Given the description of an element on the screen output the (x, y) to click on. 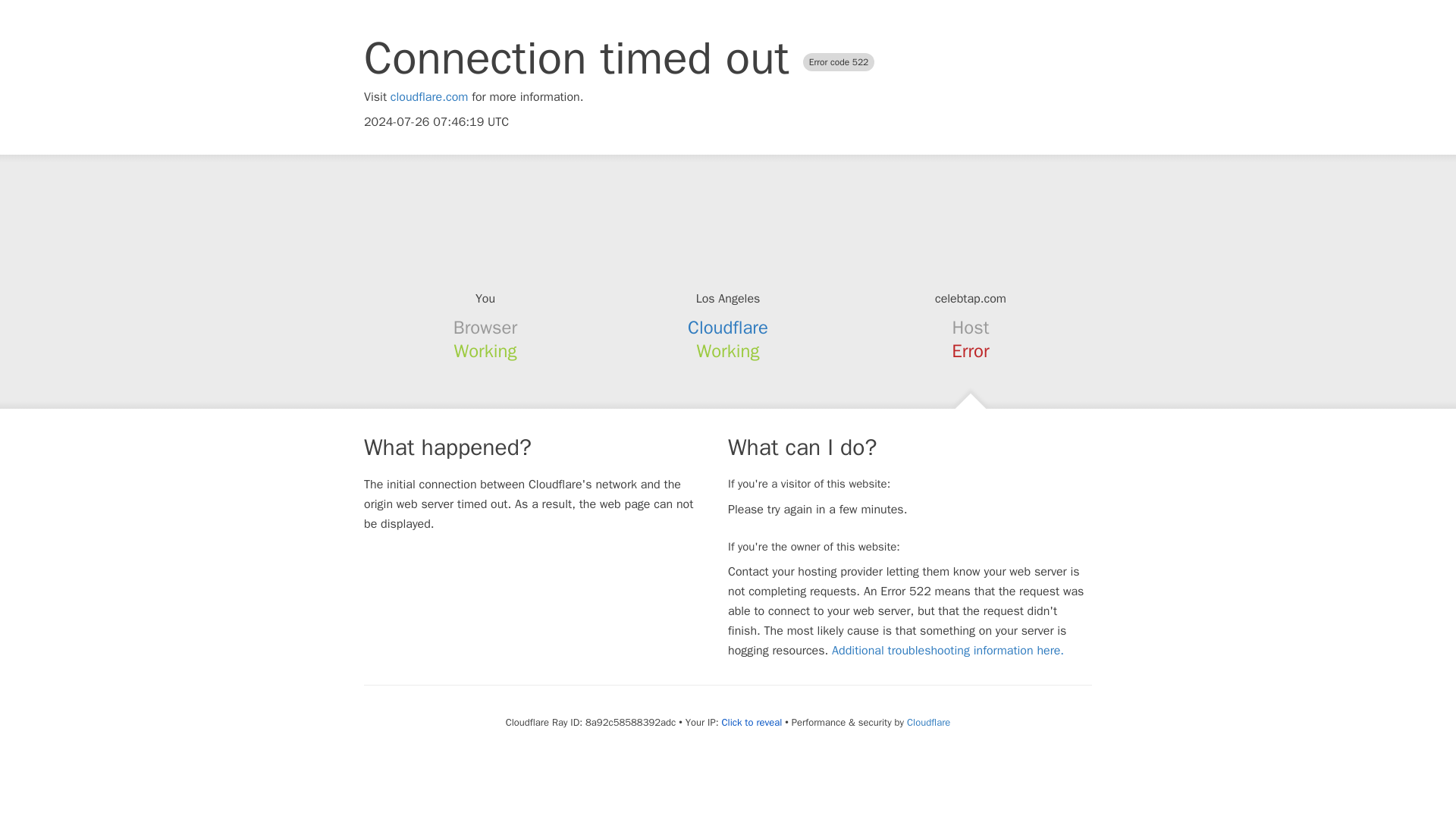
Cloudflare (727, 327)
Cloudflare (928, 721)
cloudflare.com (429, 96)
Additional troubleshooting information here. (947, 650)
Click to reveal (750, 722)
